Given the description of an element on the screen output the (x, y) to click on. 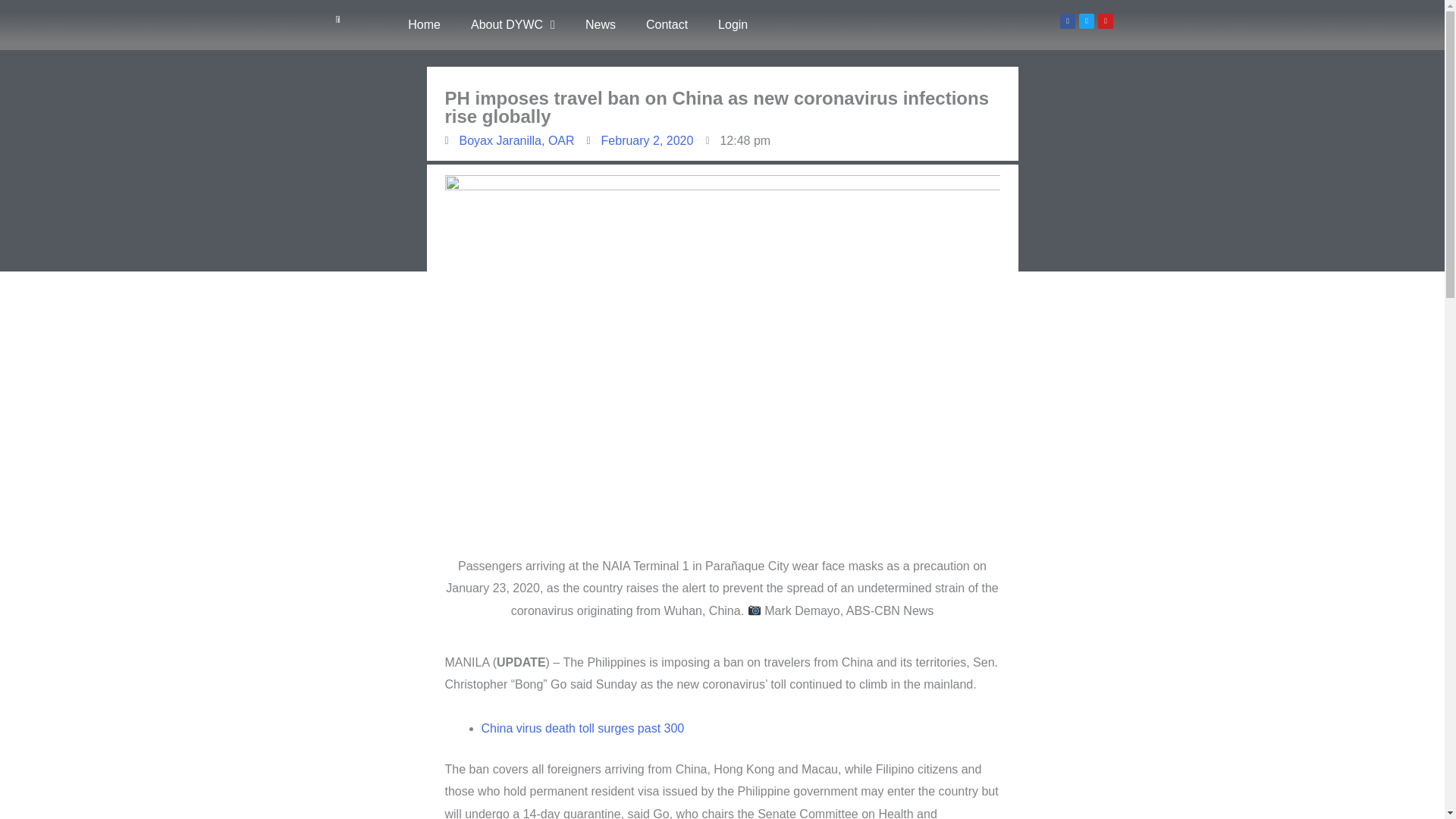
February 2, 2020 (640, 140)
China virus death toll surges past 300 (582, 727)
Facebook (1067, 20)
Login (732, 24)
Home (424, 24)
Youtube (1105, 20)
News (600, 24)
Boyax Jaranilla, OAR (508, 140)
About DYWC (512, 24)
Twitter (1086, 20)
Contact (666, 24)
